Given the description of an element on the screen output the (x, y) to click on. 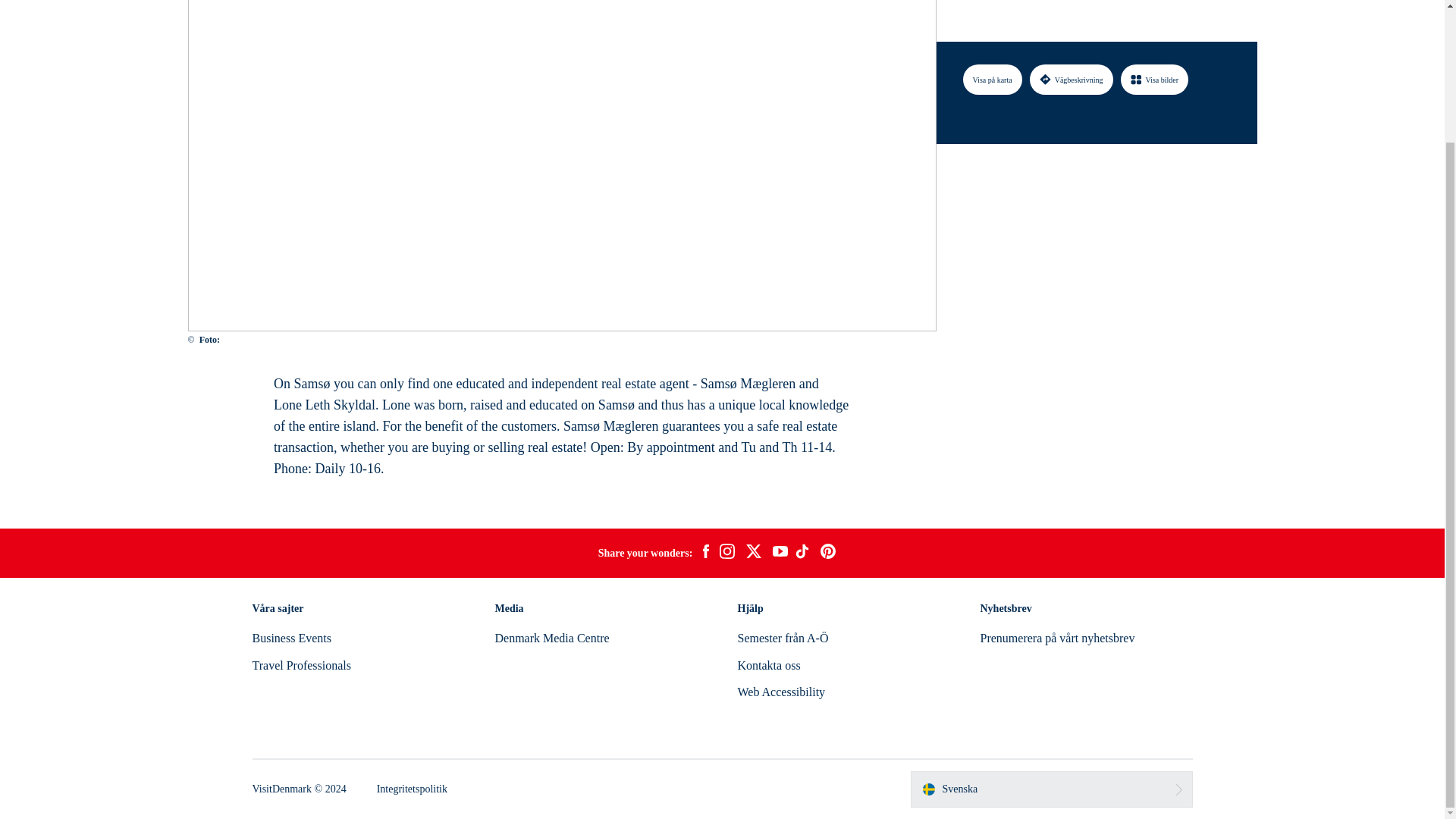
Integritetspolitik (411, 789)
Travel Professionals (300, 665)
facebook (705, 553)
Integritetspolitik (411, 789)
Business Events (290, 637)
Denmark Media Centre (551, 637)
Web Accessibility (780, 691)
Denmark Media Centre (551, 637)
pinterest (828, 553)
instagram (726, 553)
Kontakta oss (767, 665)
Visa bilder (1155, 14)
Travel Professionals (300, 665)
Kontakta oss (767, 665)
Business Events (290, 637)
